Given the description of an element on the screen output the (x, y) to click on. 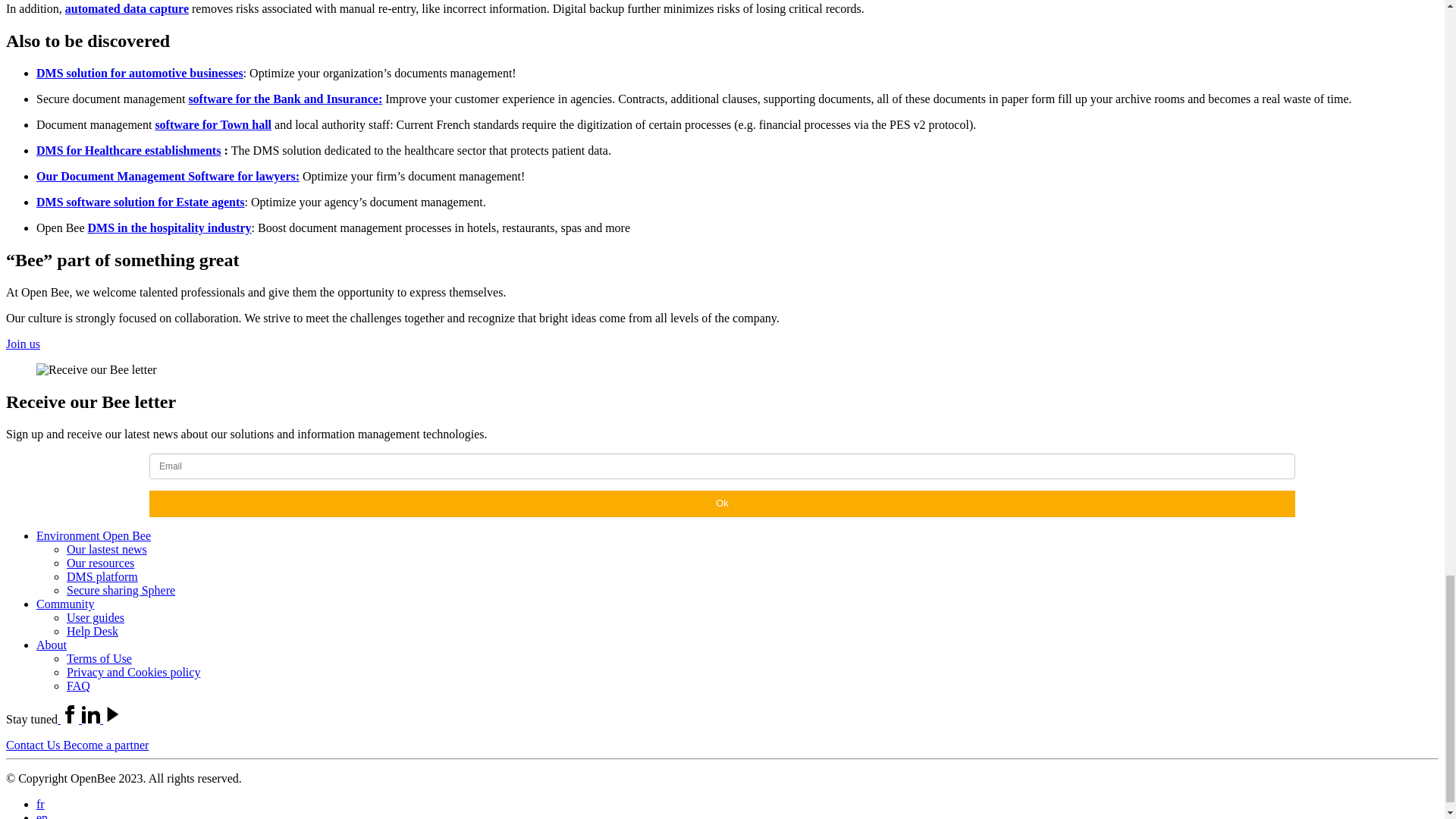
automated data capture (127, 8)
software for Town hall (212, 124)
software for the Bank and Insurance: (284, 98)
Contact Us (34, 744)
DMS solution for automotive businesses (139, 72)
Become a partner (106, 744)
Ok (722, 503)
